Given the description of an element on the screen output the (x, y) to click on. 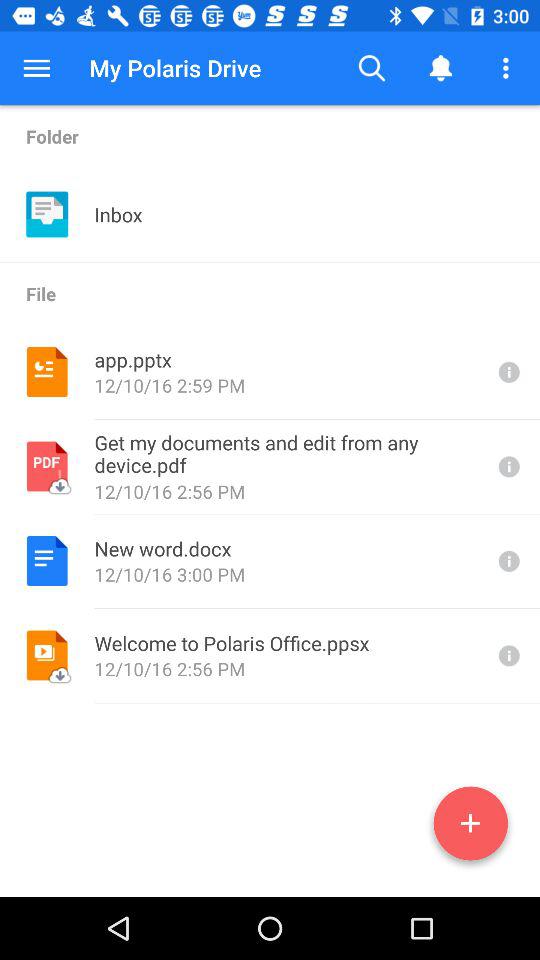
tap the button next to the my polaris drive button (36, 68)
